Given the description of an element on the screen output the (x, y) to click on. 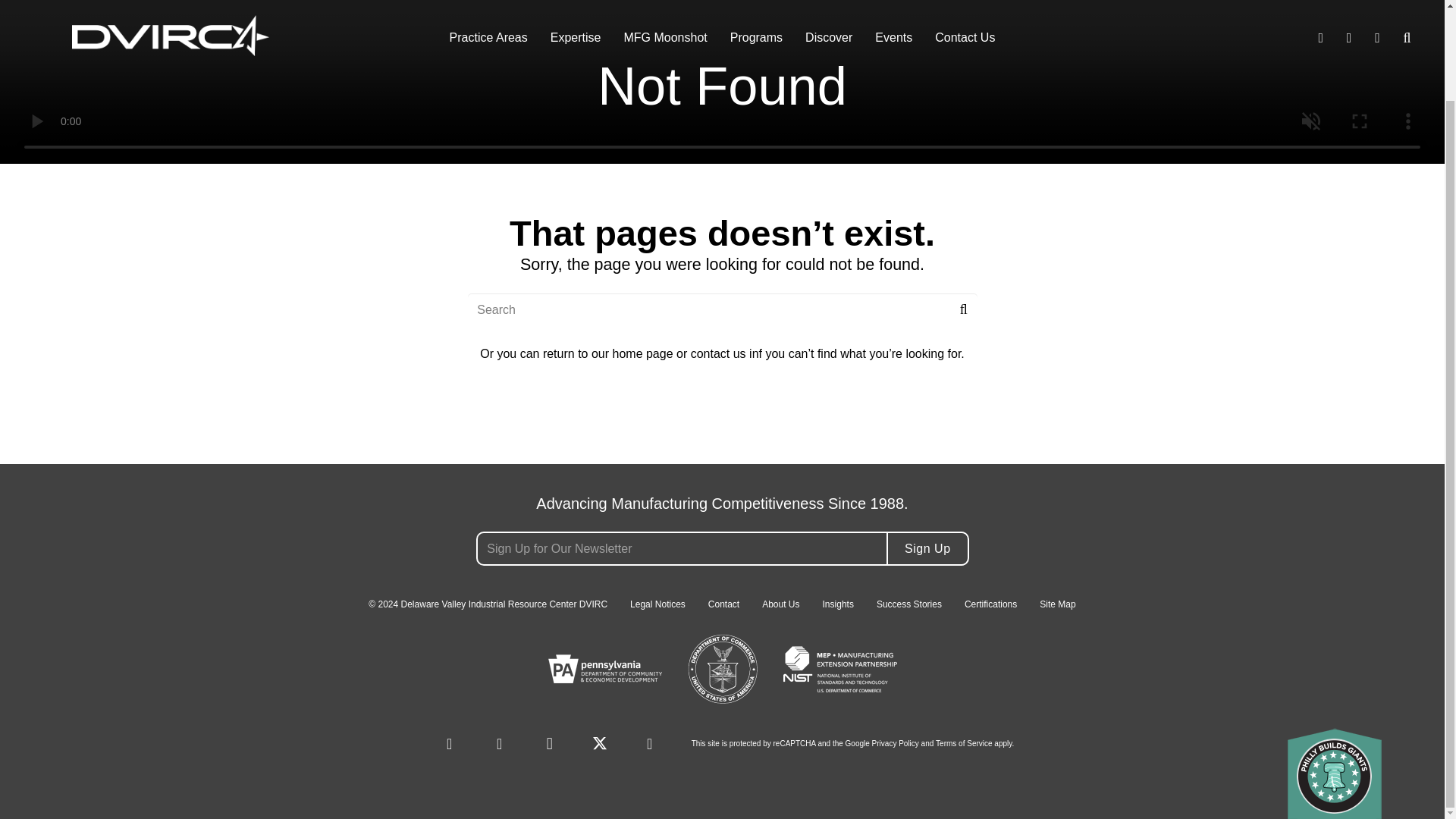
YouTube (649, 743)
Copy Link (95, 438)
Facebook (499, 743)
LinkedIn (13, 438)
Sign Up (927, 548)
Facebook (41, 438)
Twitter (599, 743)
X (68, 438)
LinkedIn (449, 743)
Instagram (550, 743)
